Given the description of an element on the screen output the (x, y) to click on. 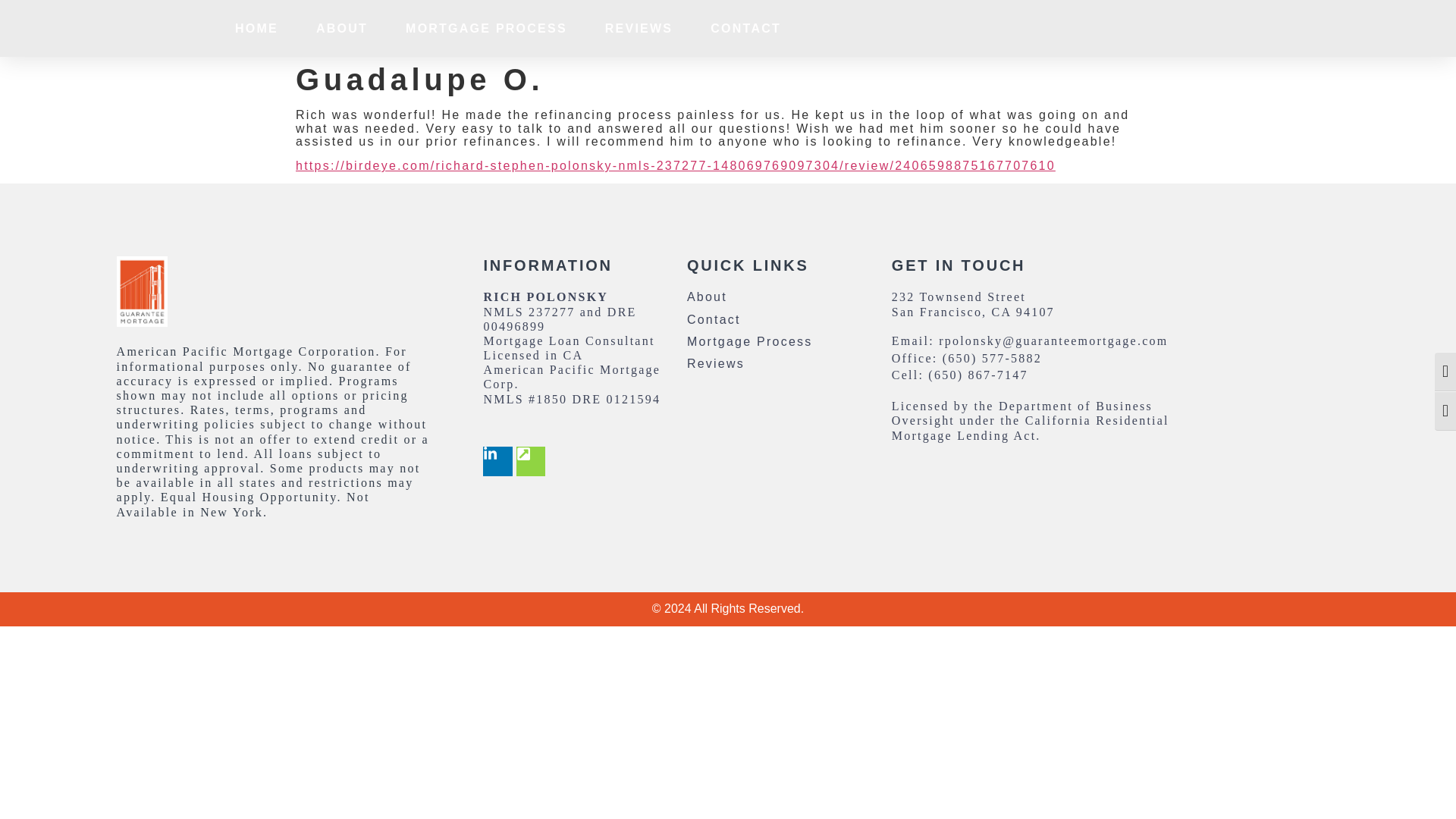
CONTACT (745, 28)
Mortgage Process (778, 341)
MORTGAGE PROCESS (486, 28)
ABOUT (341, 28)
Contact (778, 319)
REVIEWS (638, 28)
HOME (256, 28)
About (778, 296)
Reviews (778, 363)
